Given the description of an element on the screen output the (x, y) to click on. 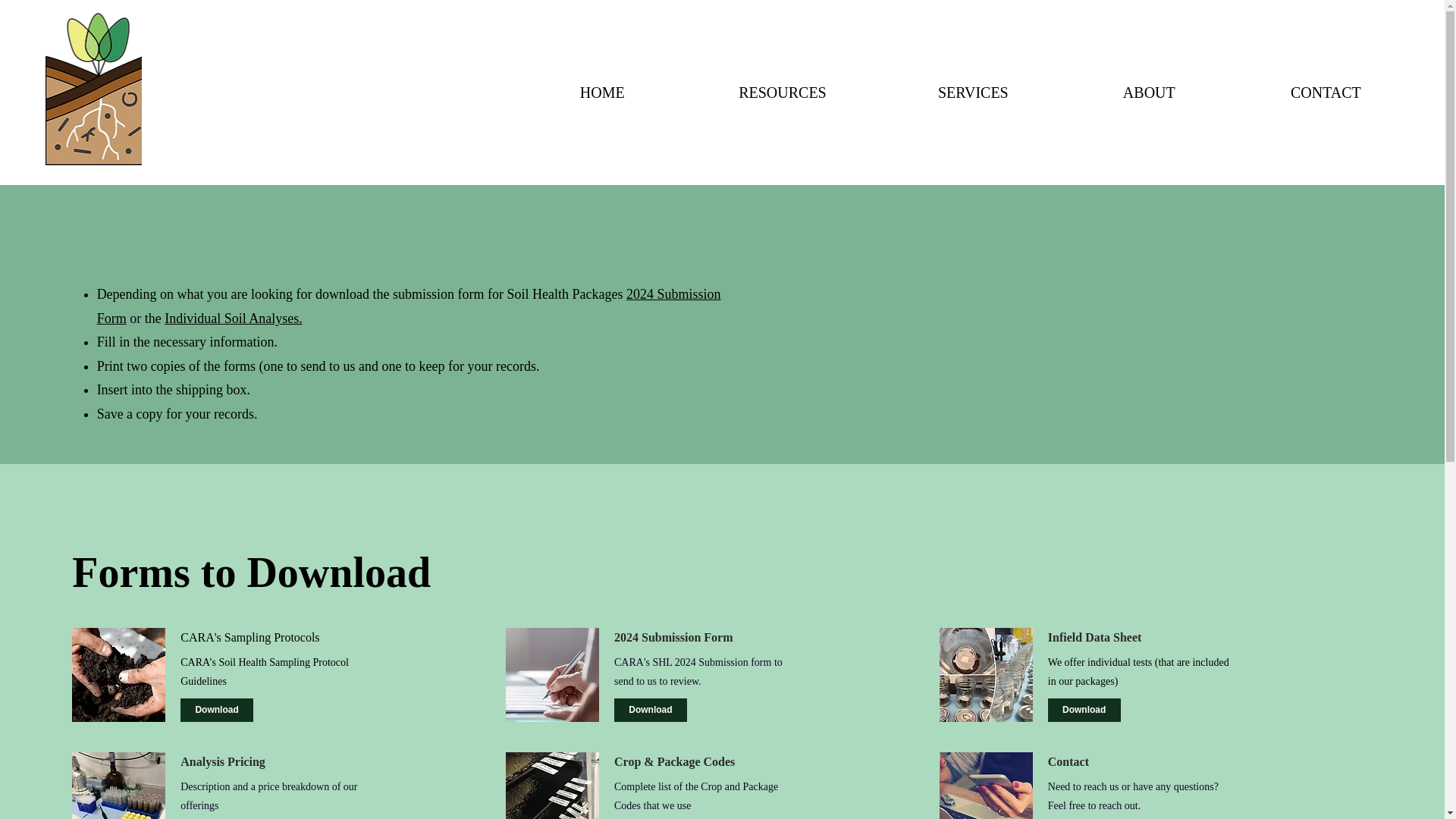
RESOURCES (737, 92)
2024 Submission Form (408, 305)
CONTACT (1279, 92)
ABOUT (1103, 92)
Download (1084, 709)
HOME (555, 92)
Individual Soil Analyses. (233, 318)
SERVICES (929, 92)
Download (650, 709)
Download (216, 709)
